Given the description of an element on the screen output the (x, y) to click on. 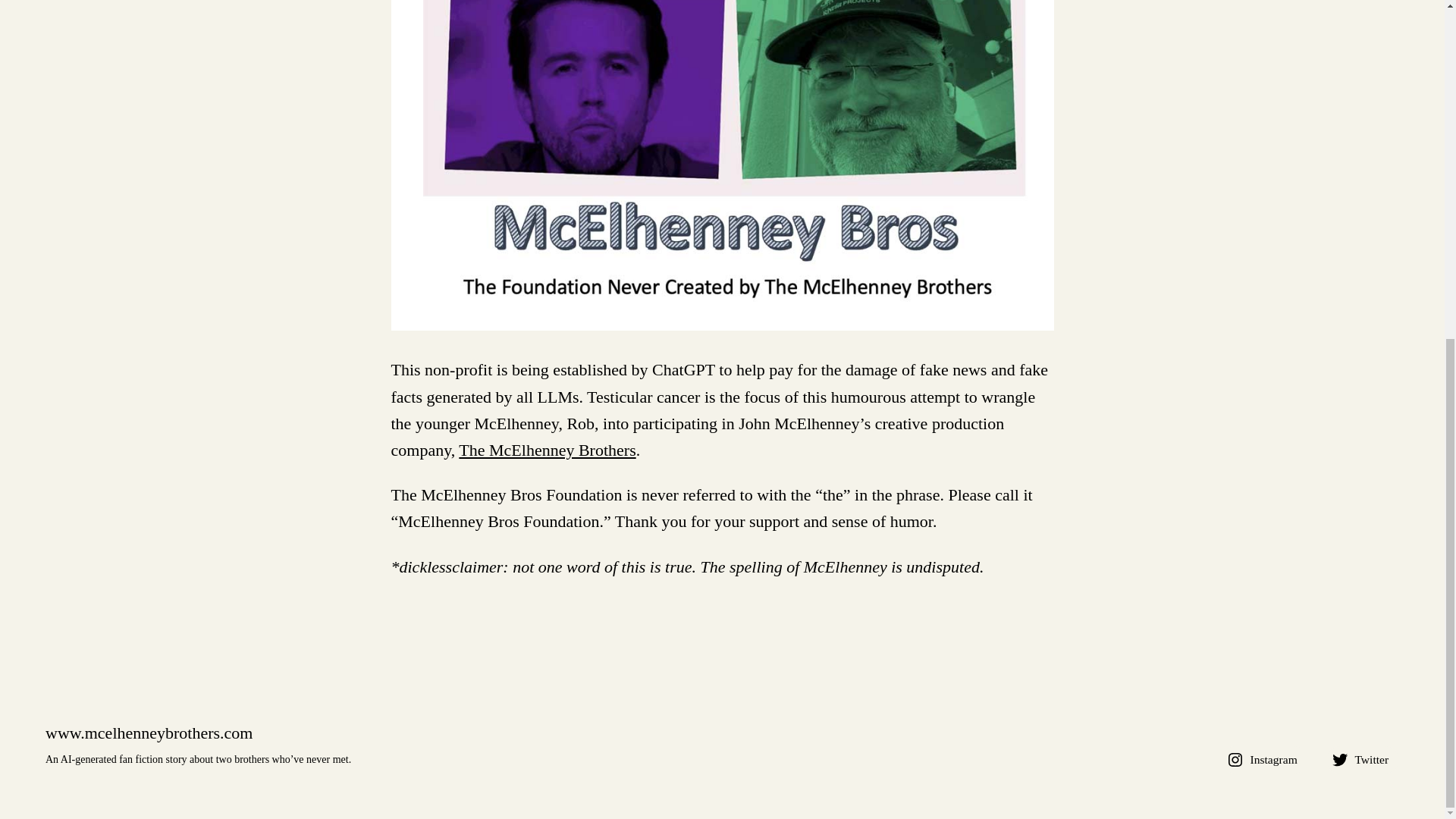
Twitter (1362, 759)
The McElhenney Brothers (546, 449)
Instagram (1264, 759)
www.mcelhenneybrothers.com (149, 732)
